Given the description of an element on the screen output the (x, y) to click on. 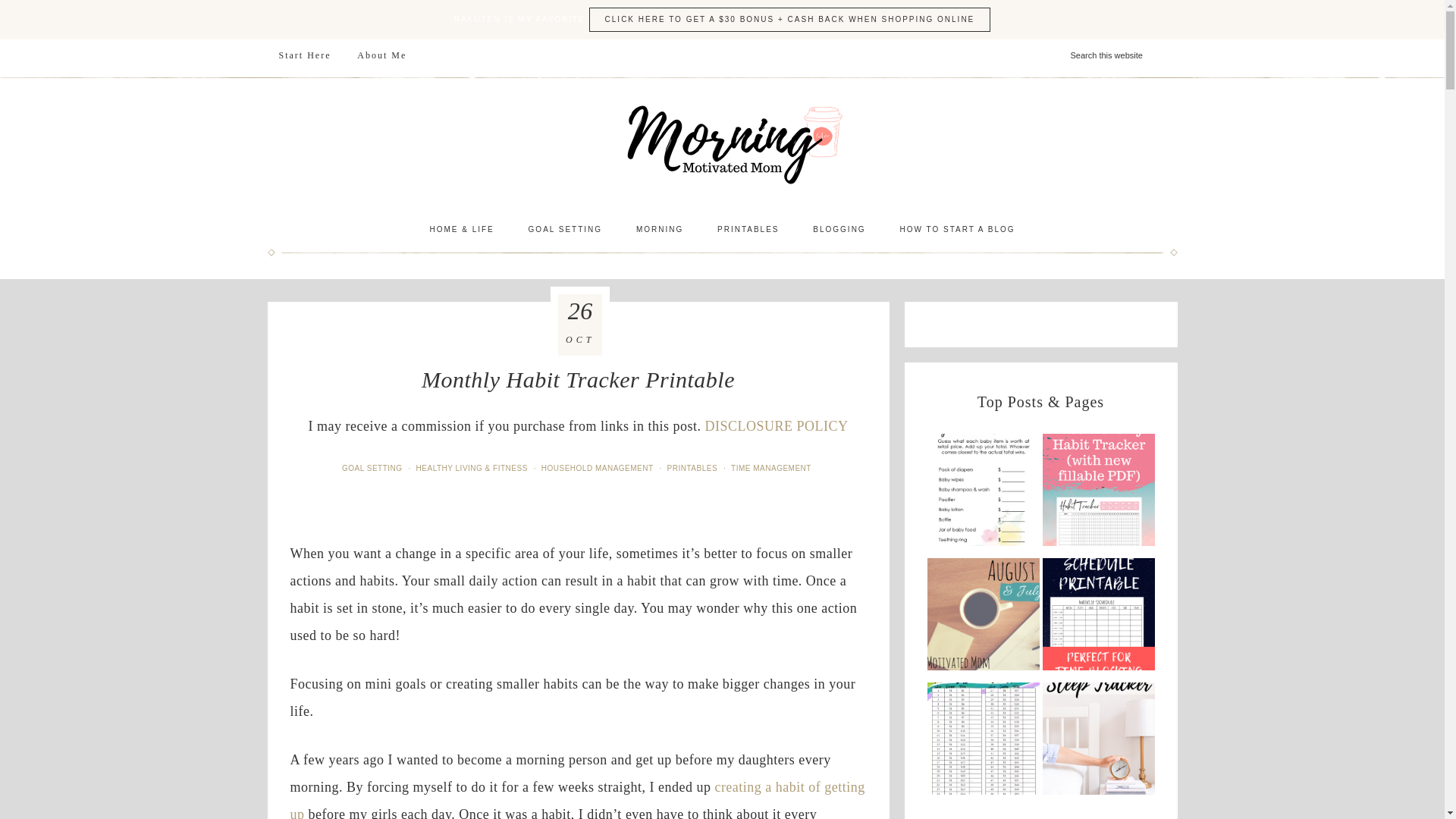
PRINTABLES (747, 229)
BLOGGING (838, 229)
Printable Baby Shower Game: Guess The Price (982, 494)
creating a habit of getting up (576, 799)
GOAL SETTING (374, 468)
PRINTABLES (693, 468)
Start Here (304, 55)
About Me (381, 55)
DISCLOSURE POLICY (775, 426)
